Given the description of an element on the screen output the (x, y) to click on. 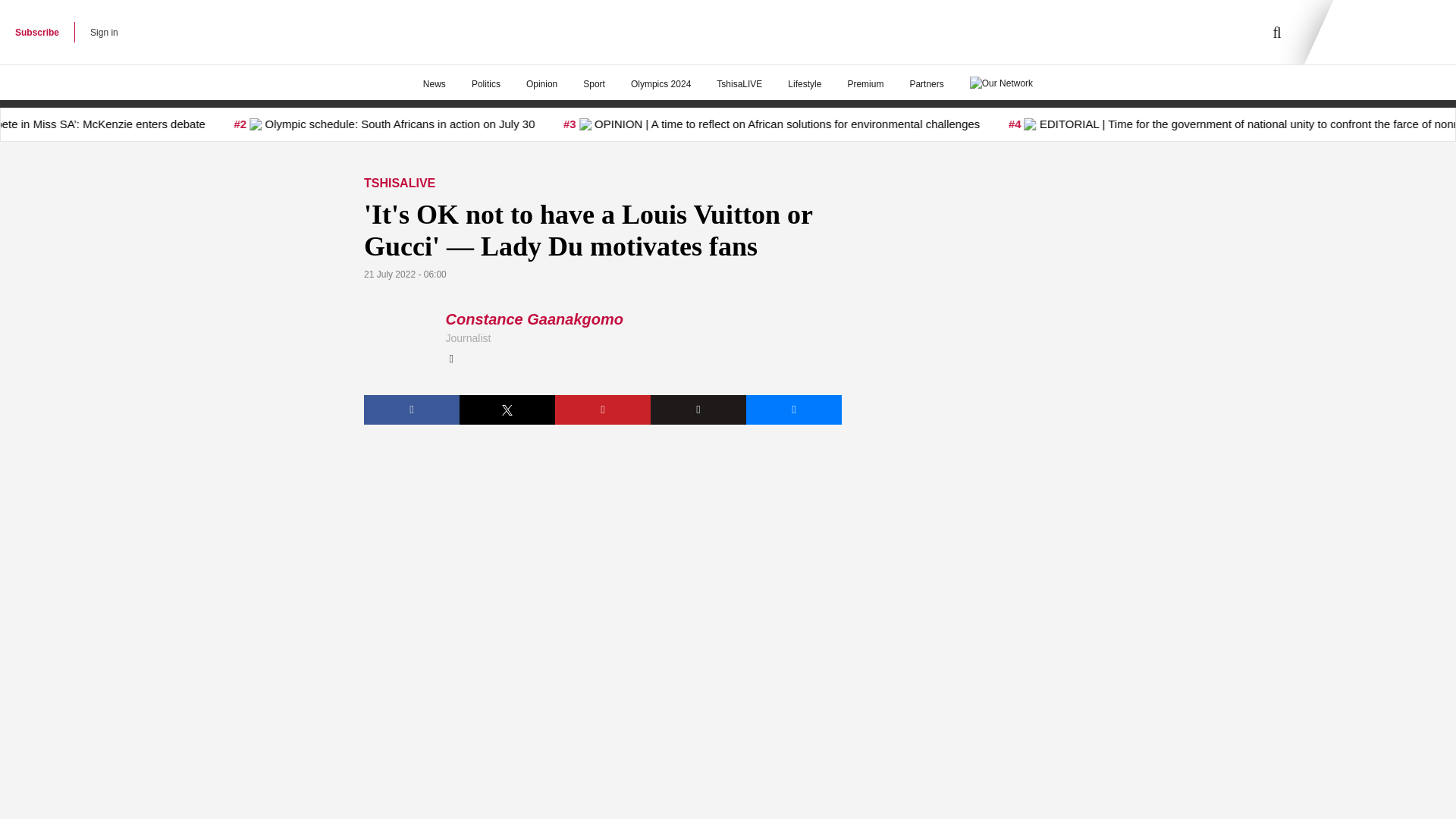
Premium (865, 84)
TshisaLIVE (738, 84)
Lifestyle (804, 84)
Subscribe (36, 32)
News (434, 84)
Sport (593, 84)
Olympics 2024 (660, 84)
Our Network (1000, 82)
Opinion (541, 84)
Politics (485, 84)
Partners (926, 84)
Sign in (103, 32)
